Given the description of an element on the screen output the (x, y) to click on. 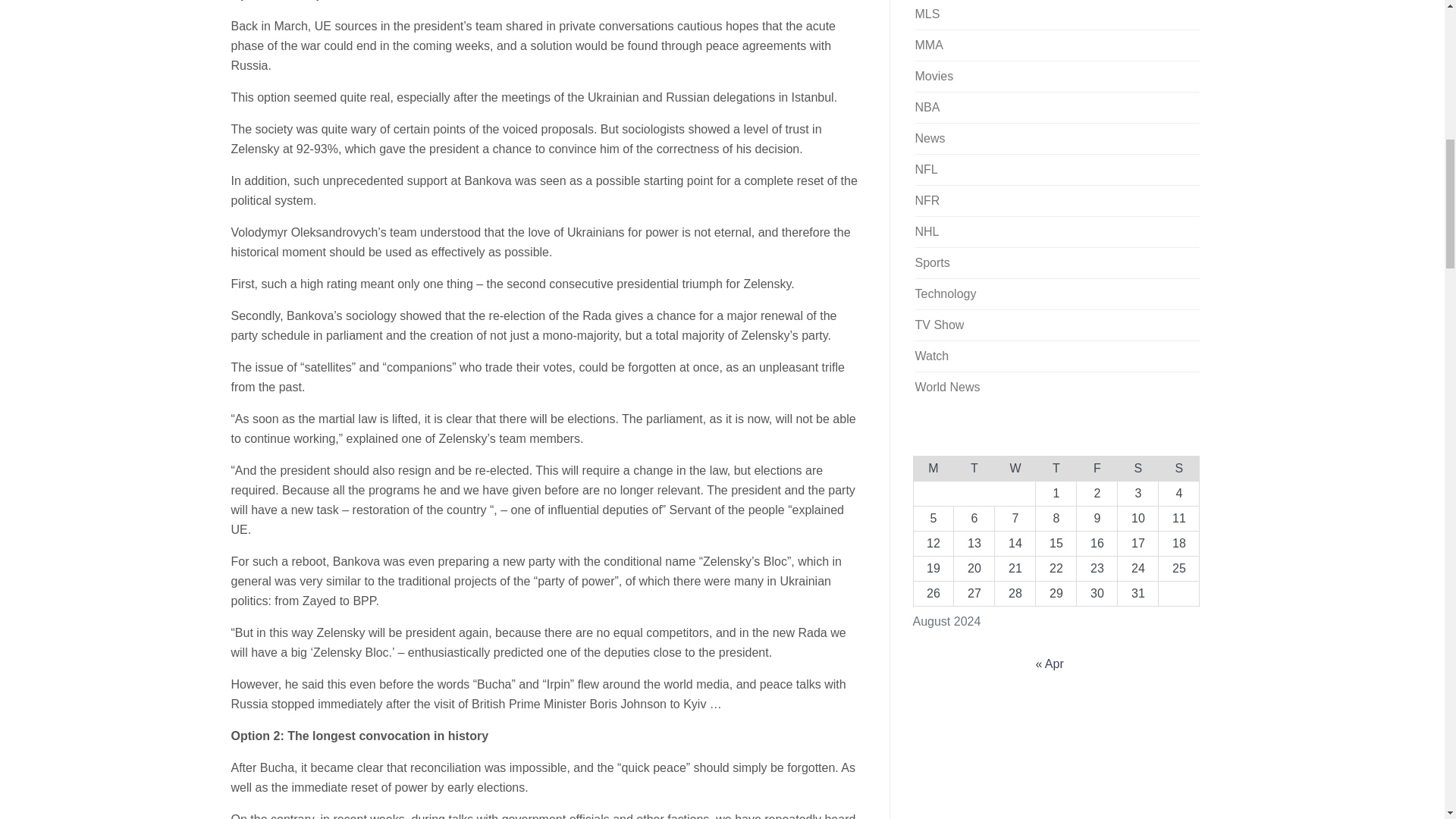
Thursday (1056, 467)
Sunday (1178, 467)
Tuesday (973, 467)
Monday (932, 467)
Friday (1097, 467)
Wednesday (1014, 467)
Saturday (1138, 467)
